Given the description of an element on the screen output the (x, y) to click on. 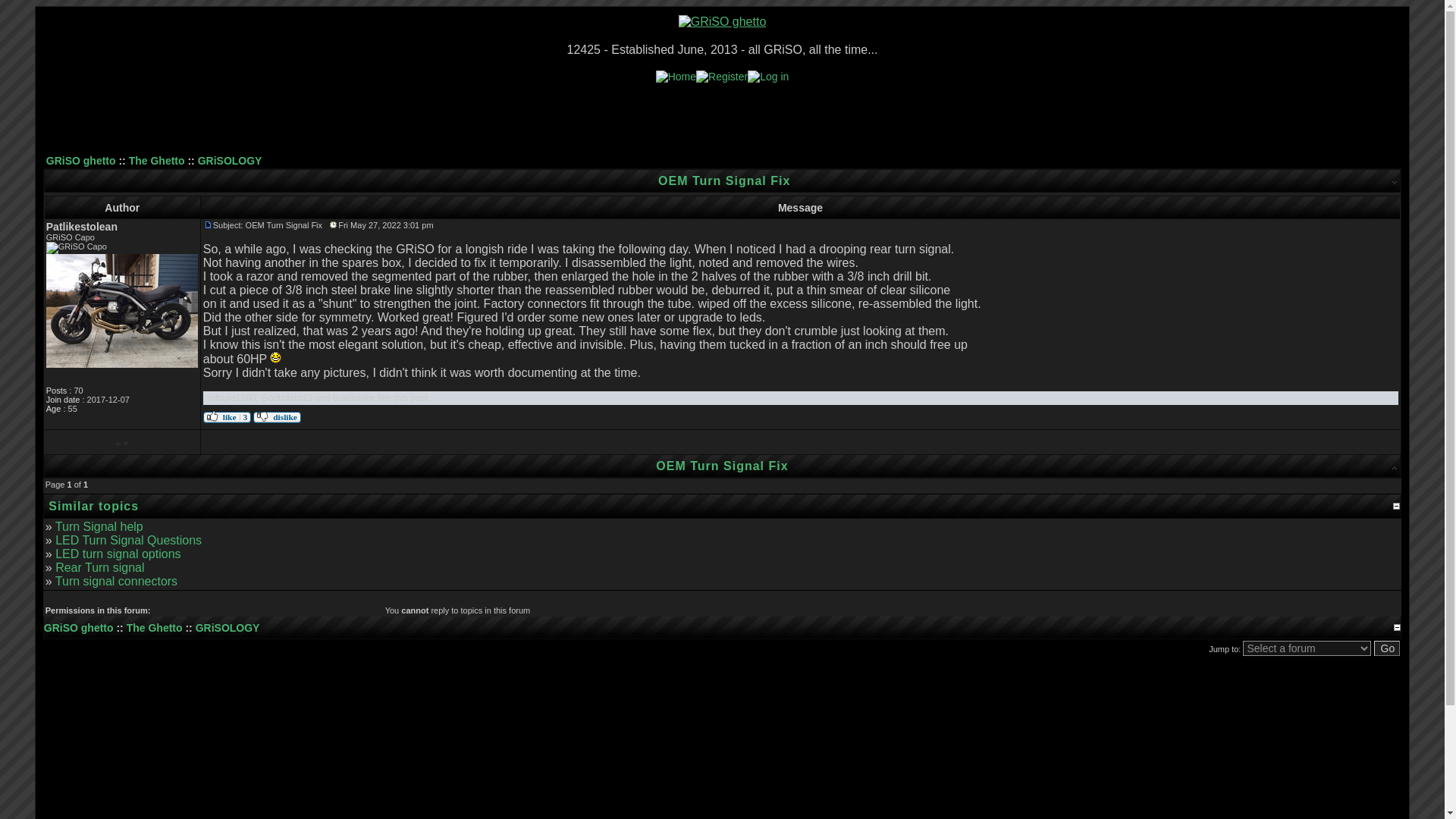
Go (1387, 648)
like3 (226, 417)
Go (1387, 648)
Turn Signal help (98, 526)
Home (675, 76)
Turn Signal help (98, 526)
The Ghetto (156, 160)
Turn signal connectors (116, 581)
Log in (768, 76)
The Ghetto (154, 627)
LED turn signal options (117, 553)
Turn signal connectors (116, 581)
GRiSOLOGY (230, 160)
GRiSOLOGY (227, 627)
Rear Turn signal (99, 567)
